Given the description of an element on the screen output the (x, y) to click on. 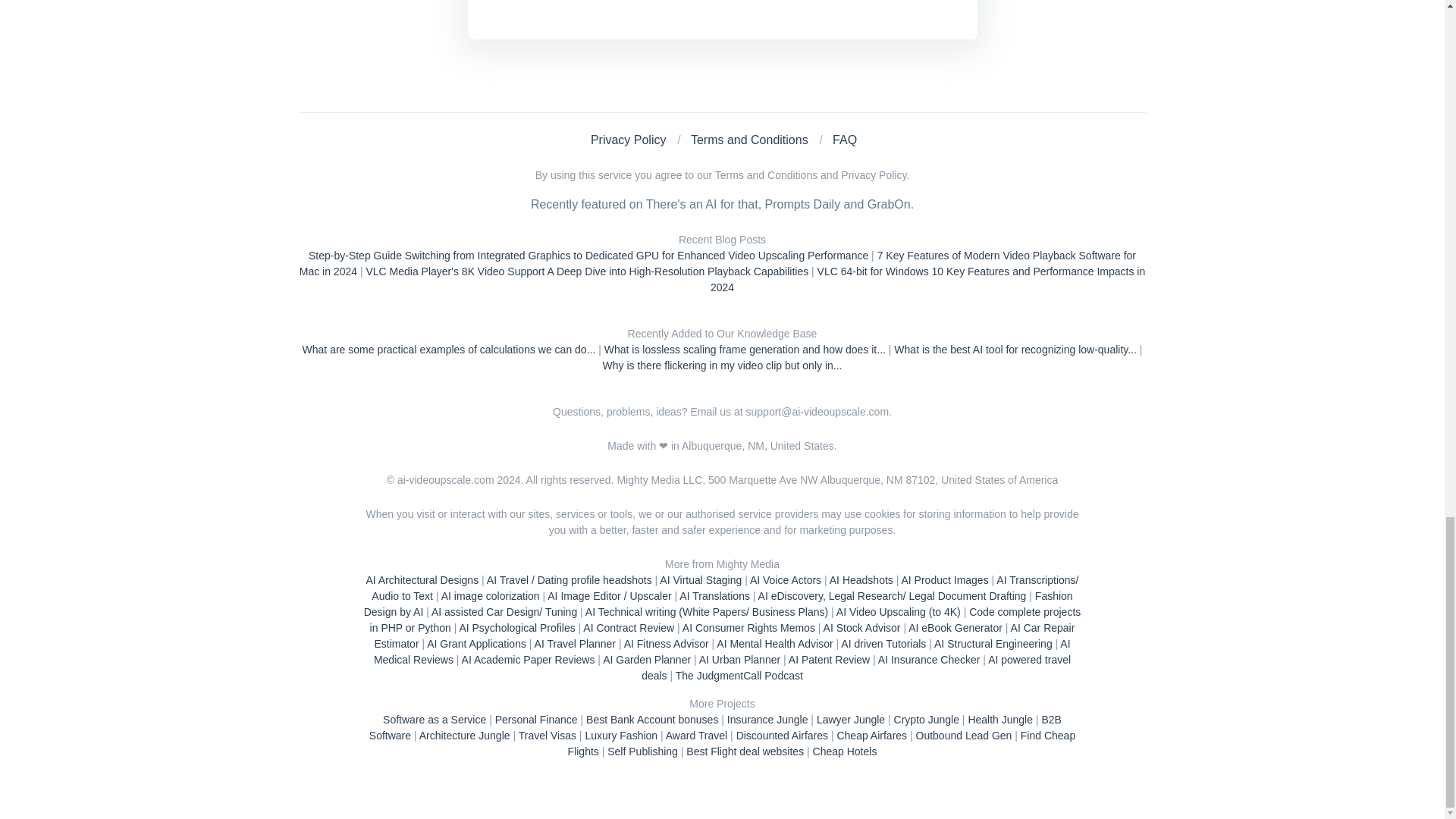
AI Product Images (944, 580)
AI Psychological Profiles (516, 627)
AI Voice Actors (785, 580)
Why is there flickering in my video clip but only in... (722, 365)
Privacy Policy (628, 139)
Fashion Design by AI (718, 603)
Terms and Conditions (749, 139)
What is the best AI tool for recognizing low-quality... (1015, 349)
